Given the description of an element on the screen output the (x, y) to click on. 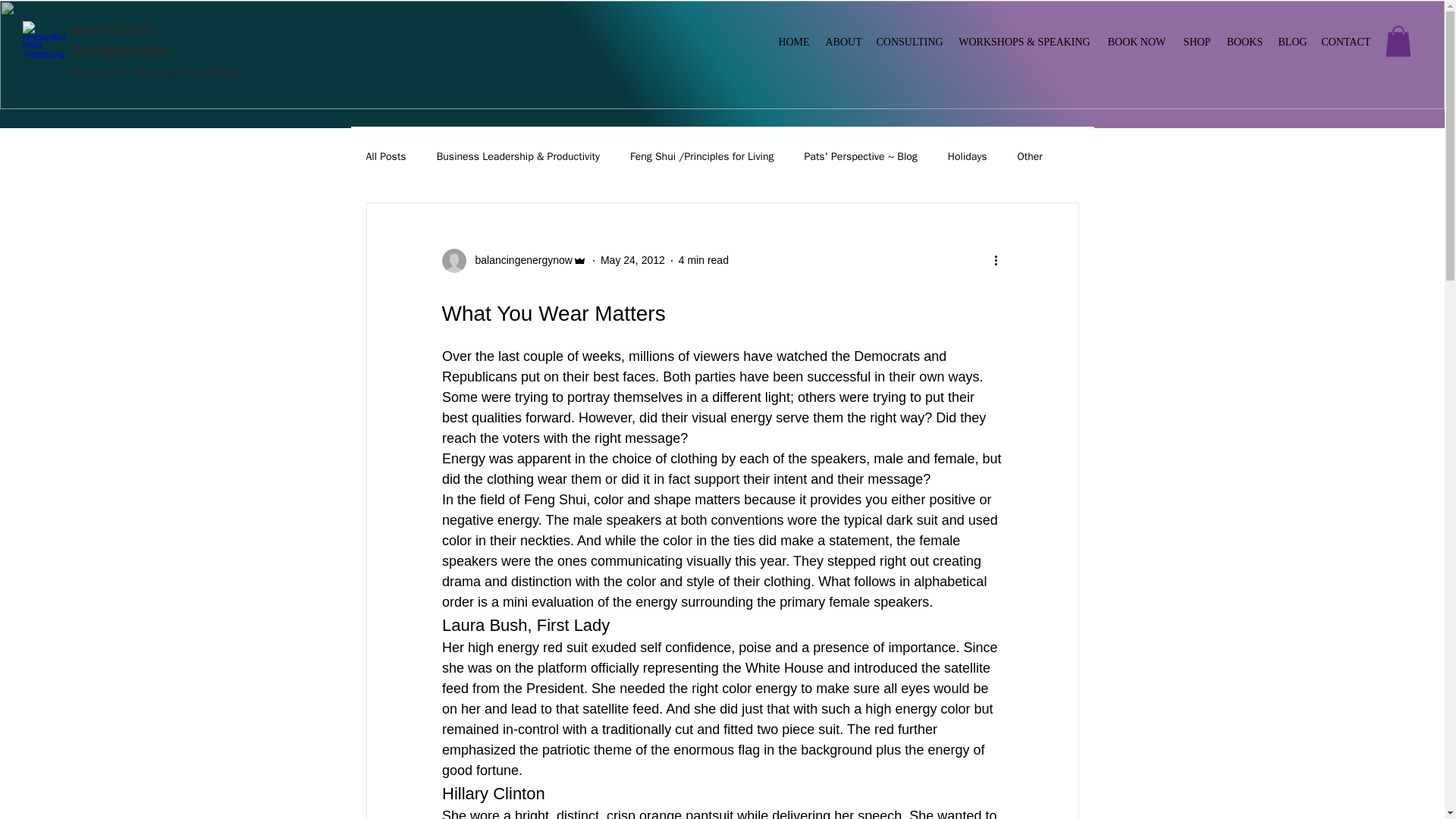
Other (1029, 156)
ABOUT (841, 42)
balancingenergynow (518, 260)
BOOKS (1245, 42)
SHOP (1197, 42)
HOME (794, 42)
May 24, 2012 (632, 259)
BLOG (1292, 42)
CONTACT (1345, 42)
4 min read (703, 259)
